Given the description of an element on the screen output the (x, y) to click on. 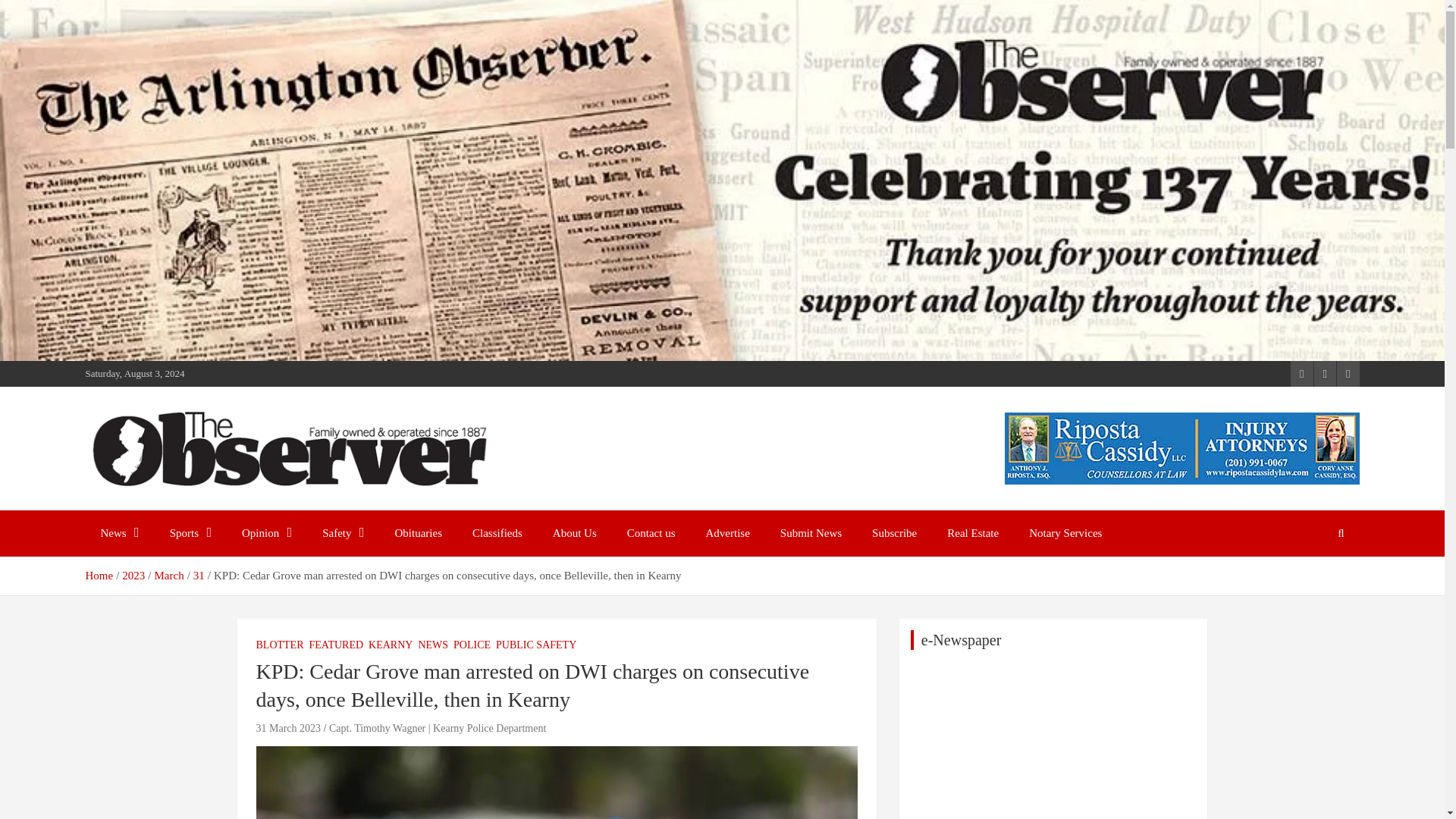
Classifieds (497, 533)
Obituaries (418, 533)
Safety (342, 533)
About Us (574, 533)
Sports (190, 533)
The Observer Online (212, 506)
News (119, 533)
Opinion (267, 533)
